Given the description of an element on the screen output the (x, y) to click on. 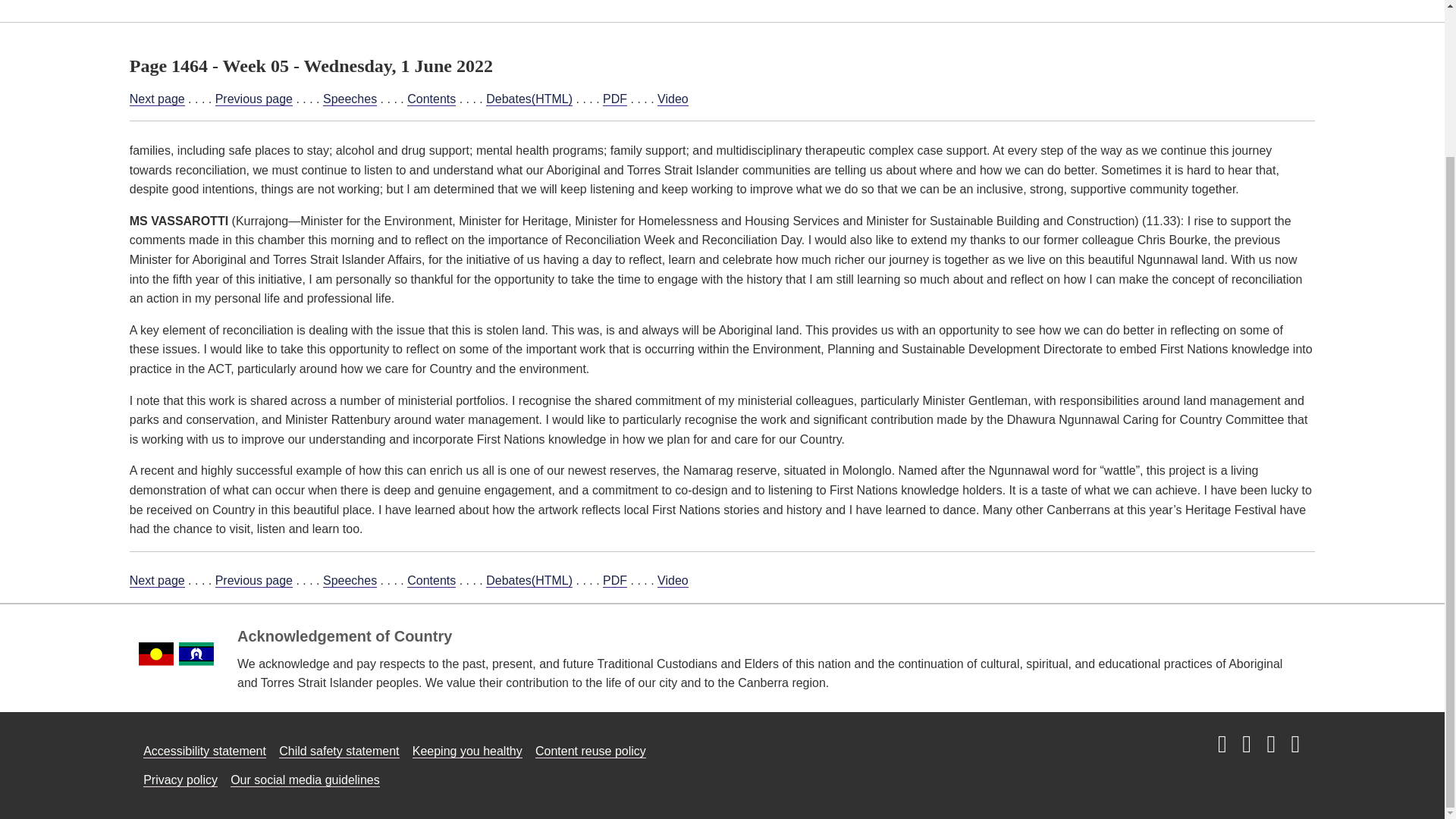
Previous Assemblies (943, 4)
Read our access and inclusion statement (204, 751)
Video (673, 99)
Keeping you healthy (467, 751)
Questions (442, 4)
PDF (614, 581)
Previous page (253, 581)
Content reuse policy (590, 751)
PDF (614, 99)
Video (673, 581)
Contents (431, 581)
Previous page (253, 99)
Read our privacy policy (179, 780)
Our social media guidelines (305, 780)
Contents (431, 99)
